Given the description of an element on the screen output the (x, y) to click on. 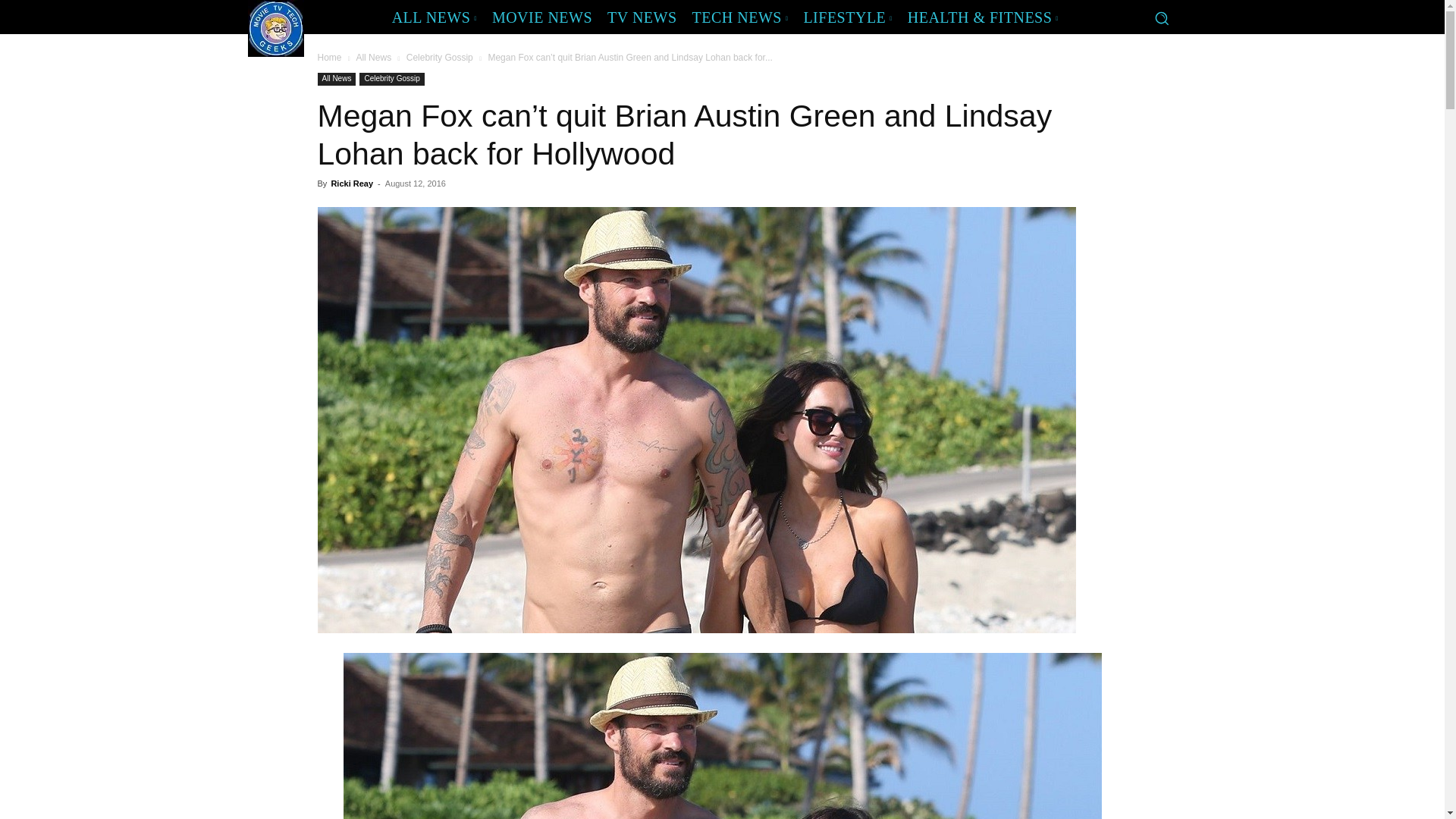
View all posts in All News (373, 57)
All News (336, 78)
Ricki Reay (351, 183)
Celebrity Gossip (439, 57)
MOVIE NEWS (541, 17)
All News (373, 57)
LIFESTYLE (846, 17)
View all posts in Celebrity Gossip (439, 57)
